Given the description of an element on the screen output the (x, y) to click on. 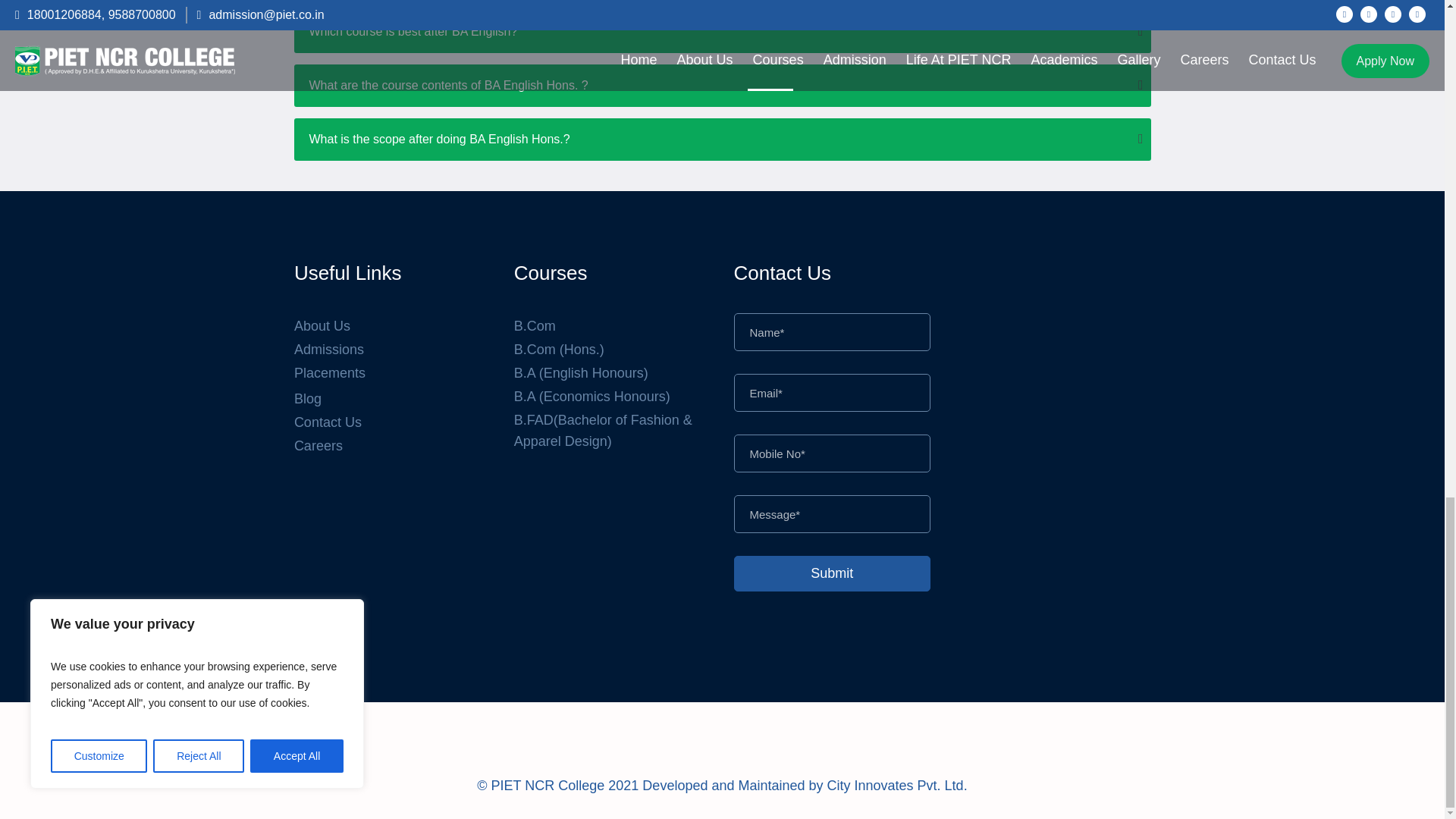
Submit (832, 573)
